Given the description of an element on the screen output the (x, y) to click on. 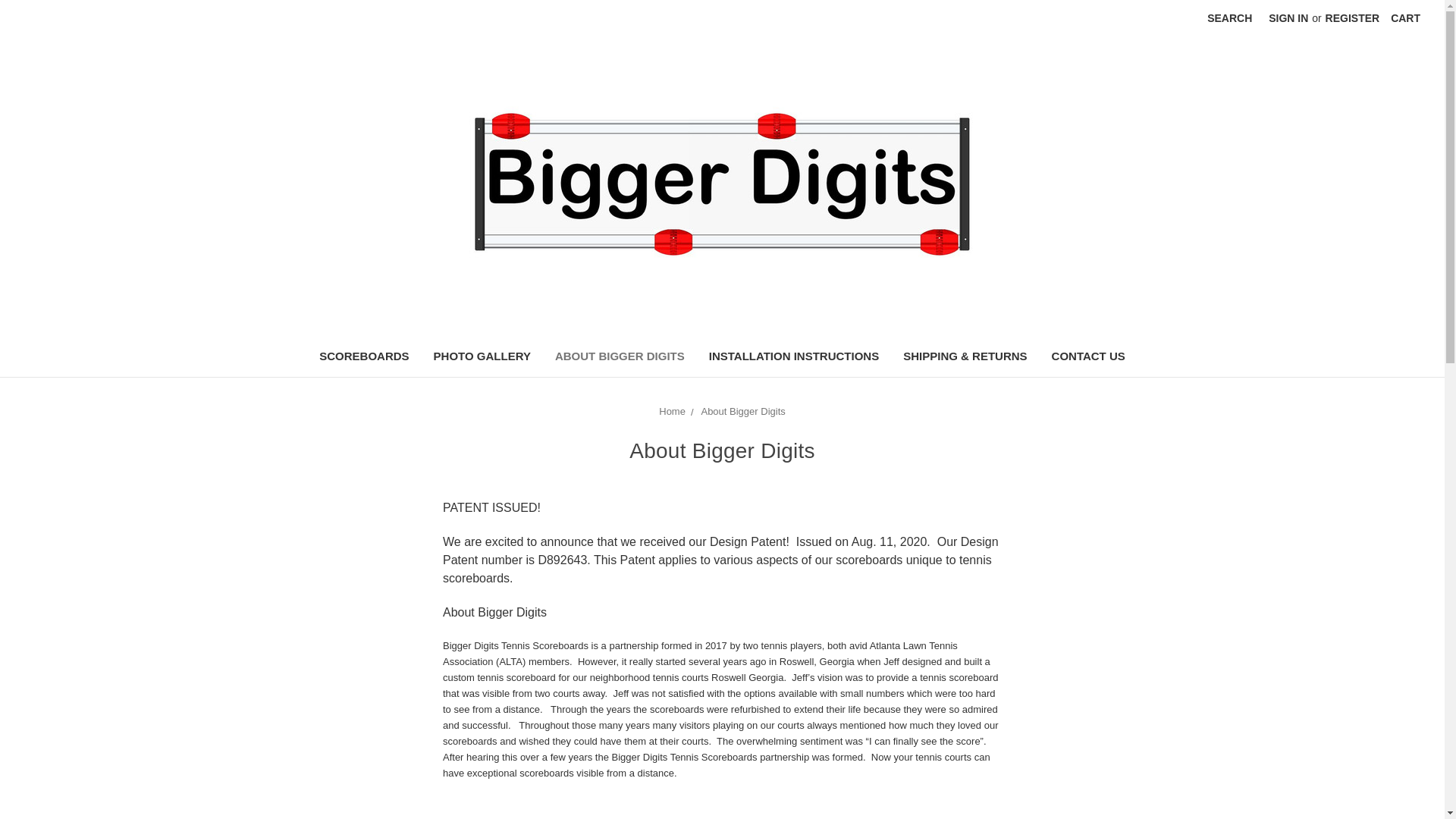
CONTACT US (1088, 357)
SIGN IN (1288, 18)
Bigger Digits Scoreboards (722, 185)
INSTALLATION INSTRUCTIONS (794, 357)
ABOUT BIGGER DIGITS (620, 357)
SCOREBOARDS (363, 357)
CART (1404, 18)
PHOTO GALLERY (482, 357)
SEARCH (1229, 18)
REGISTER (1353, 18)
